Given the description of an element on the screen output the (x, y) to click on. 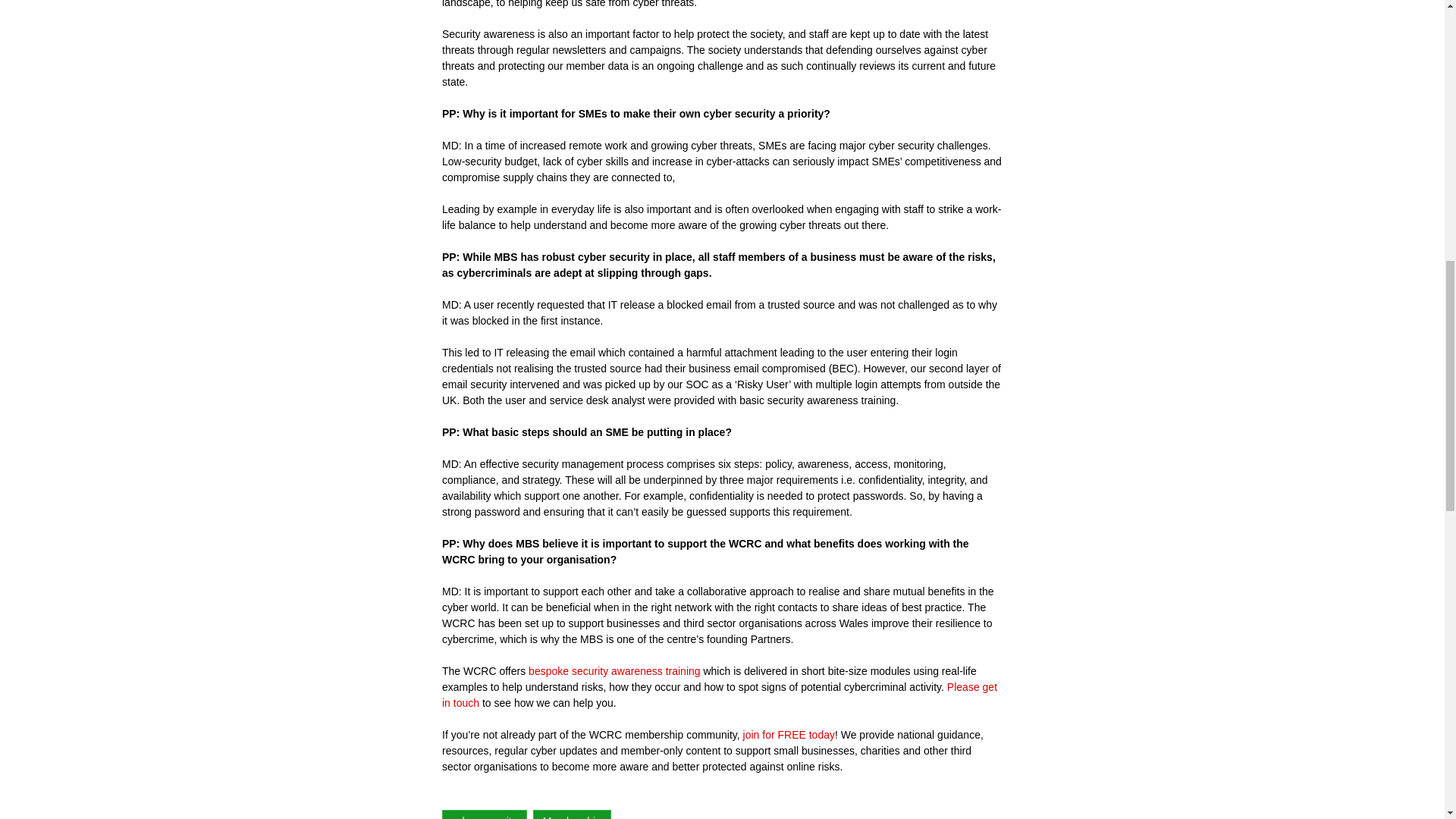
cyber security (483, 814)
Membership (571, 814)
join for FREE today (788, 734)
bespoke security awareness training (614, 671)
Please get in touch (719, 694)
